Given the description of an element on the screen output the (x, y) to click on. 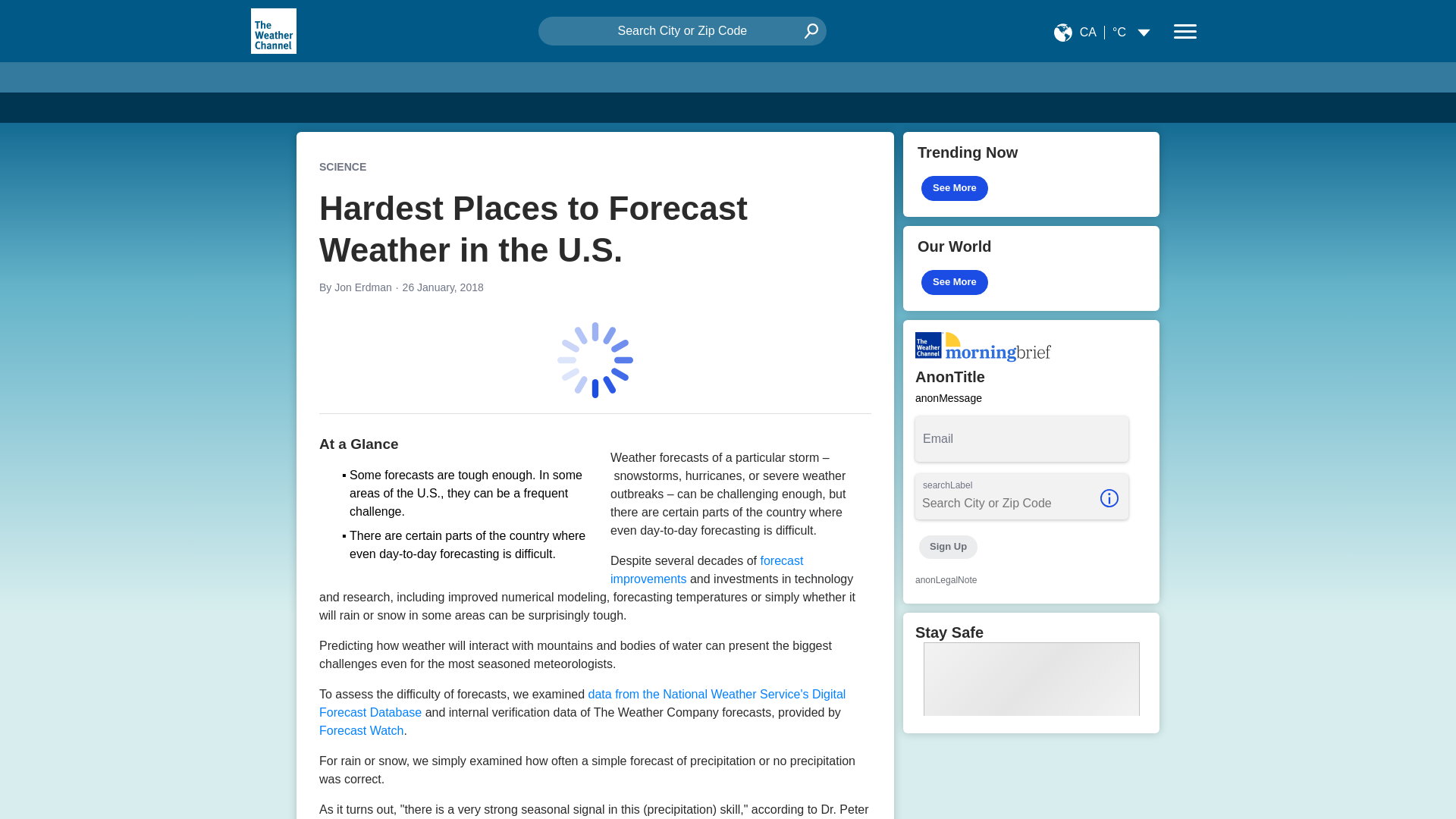
Forecast Watch (360, 730)
See More (954, 282)
The Weather Channel (273, 30)
Stay Safe (1030, 672)
forecast improvements (706, 569)
See More (954, 188)
The Weather Channel (273, 31)
Our World (1030, 268)
Trending Now (1030, 174)
